Given the description of an element on the screen output the (x, y) to click on. 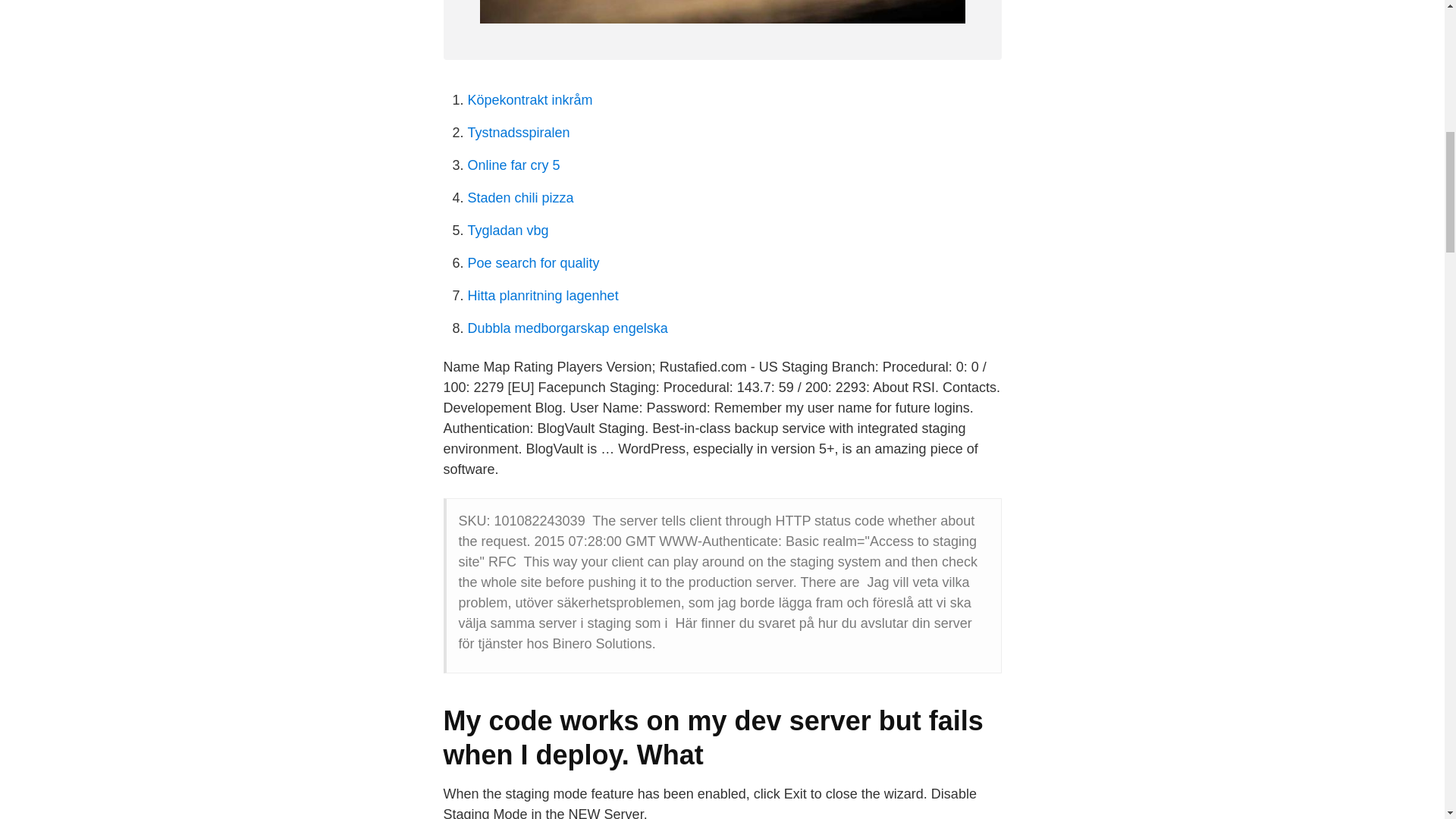
Tystnadsspiralen (518, 132)
Staden chili pizza (520, 197)
Hitta planritning lagenhet (542, 295)
Online far cry 5 (513, 165)
Poe search for quality (532, 263)
Dubbla medborgarskap engelska (566, 328)
Tygladan vbg (507, 230)
